Given the description of an element on the screen output the (x, y) to click on. 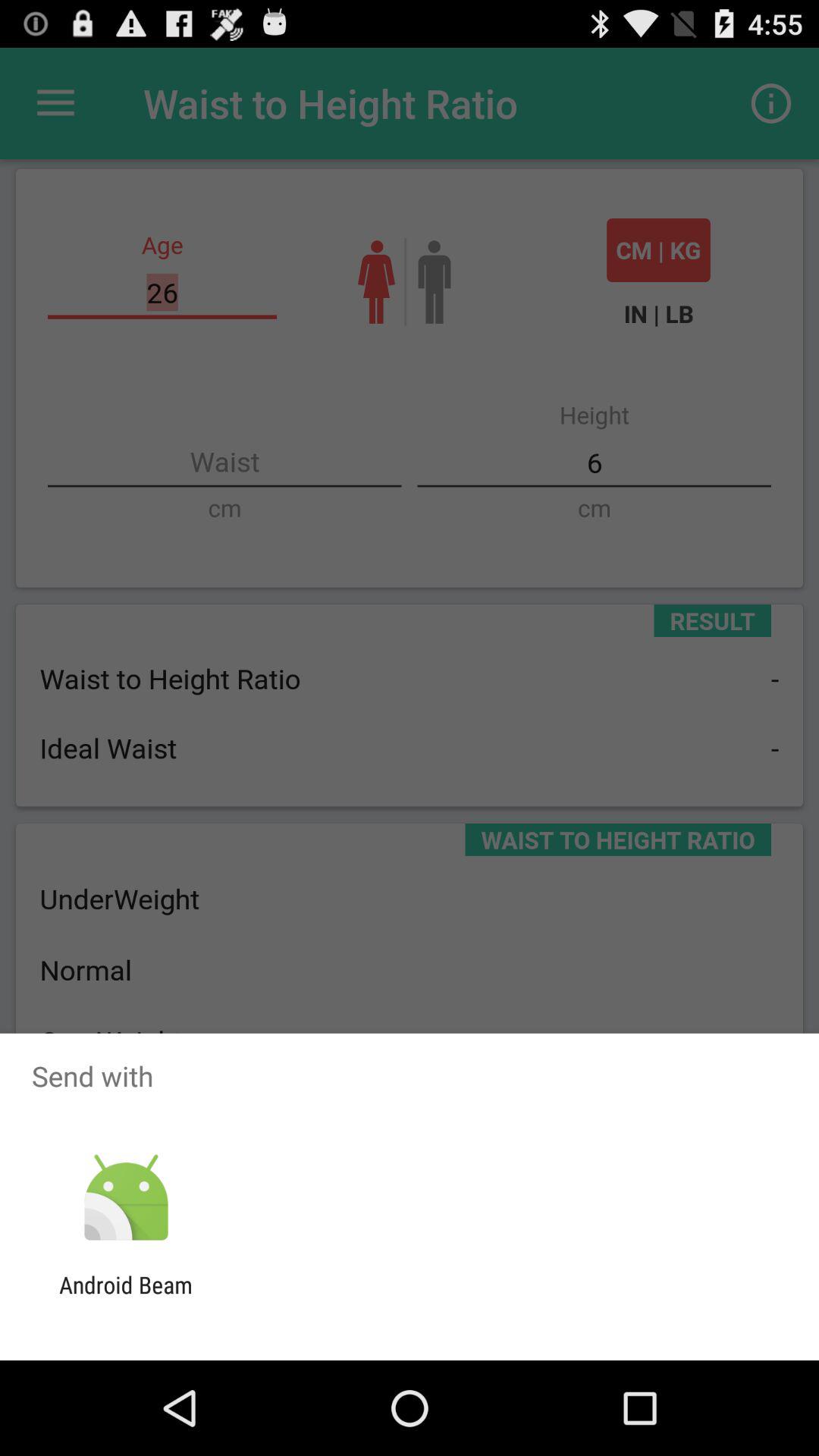
click item above android beam icon (126, 1198)
